Given the description of an element on the screen output the (x, y) to click on. 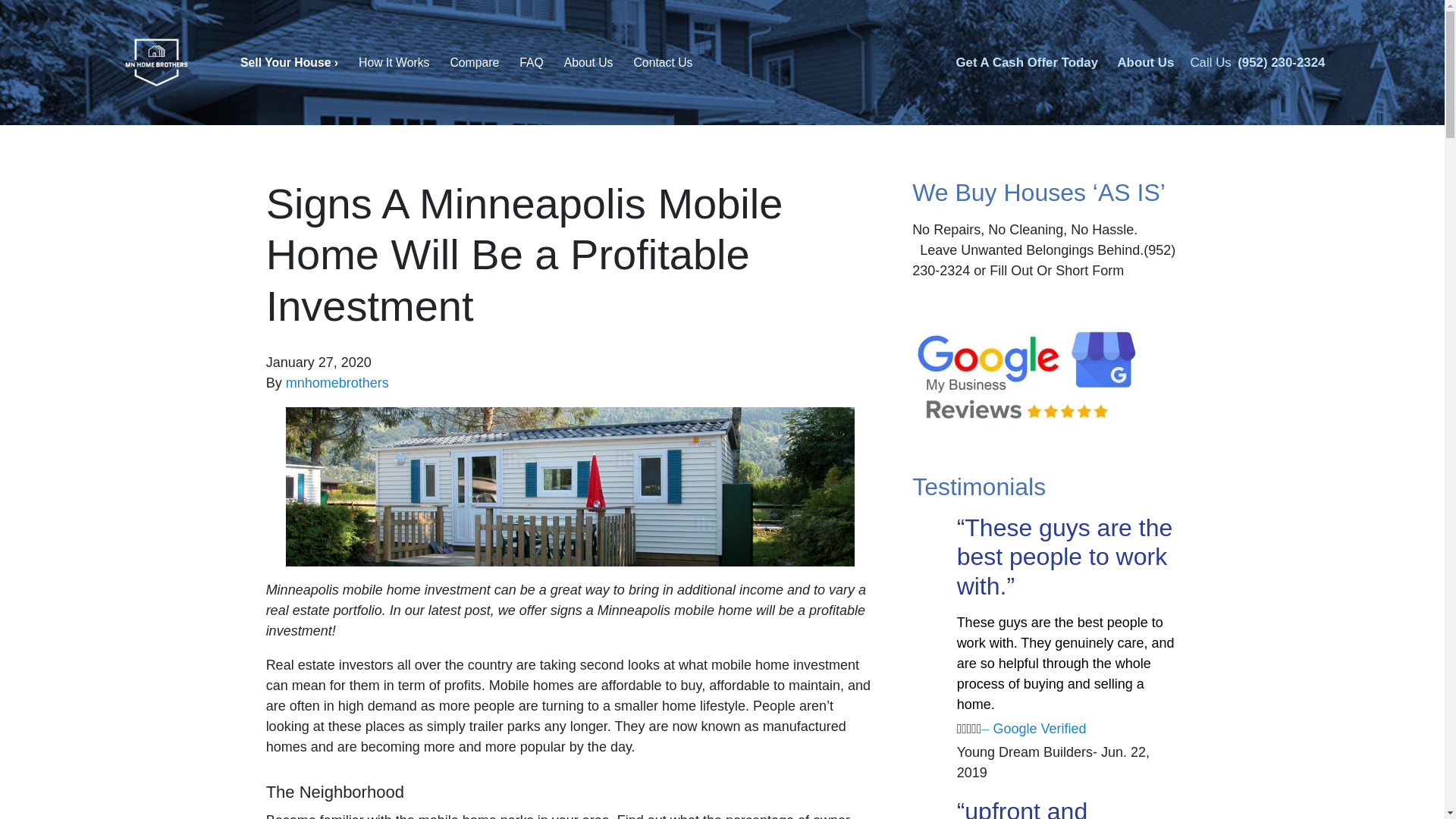
Get A Cash Offer Today (1026, 62)
mnhomebrothers (336, 382)
How It Works (394, 63)
Google Verified  (1041, 728)
